Given the description of an element on the screen output the (x, y) to click on. 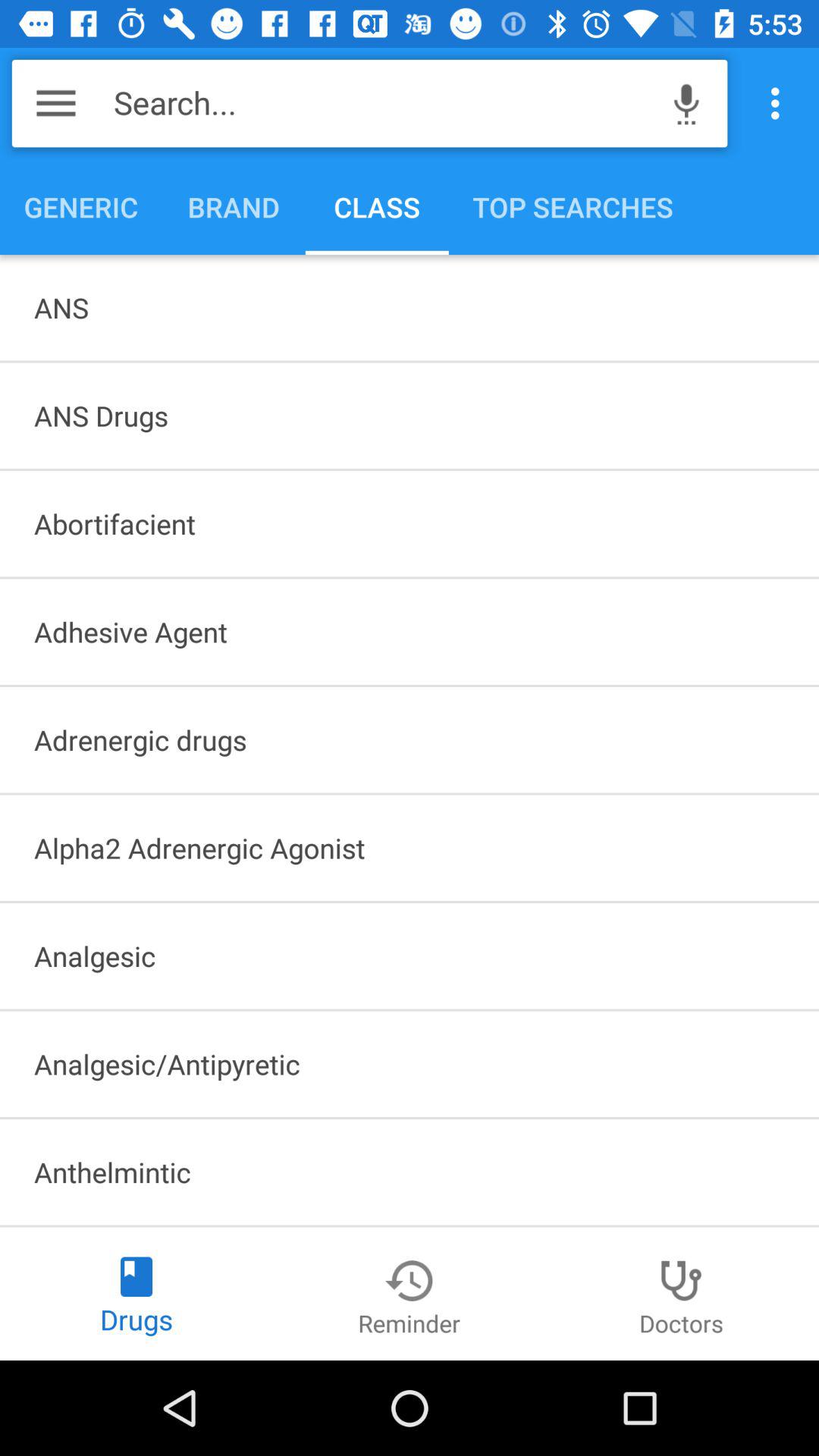
turn off the analgesic/antipyretic icon (409, 1063)
